Given the description of an element on the screen output the (x, y) to click on. 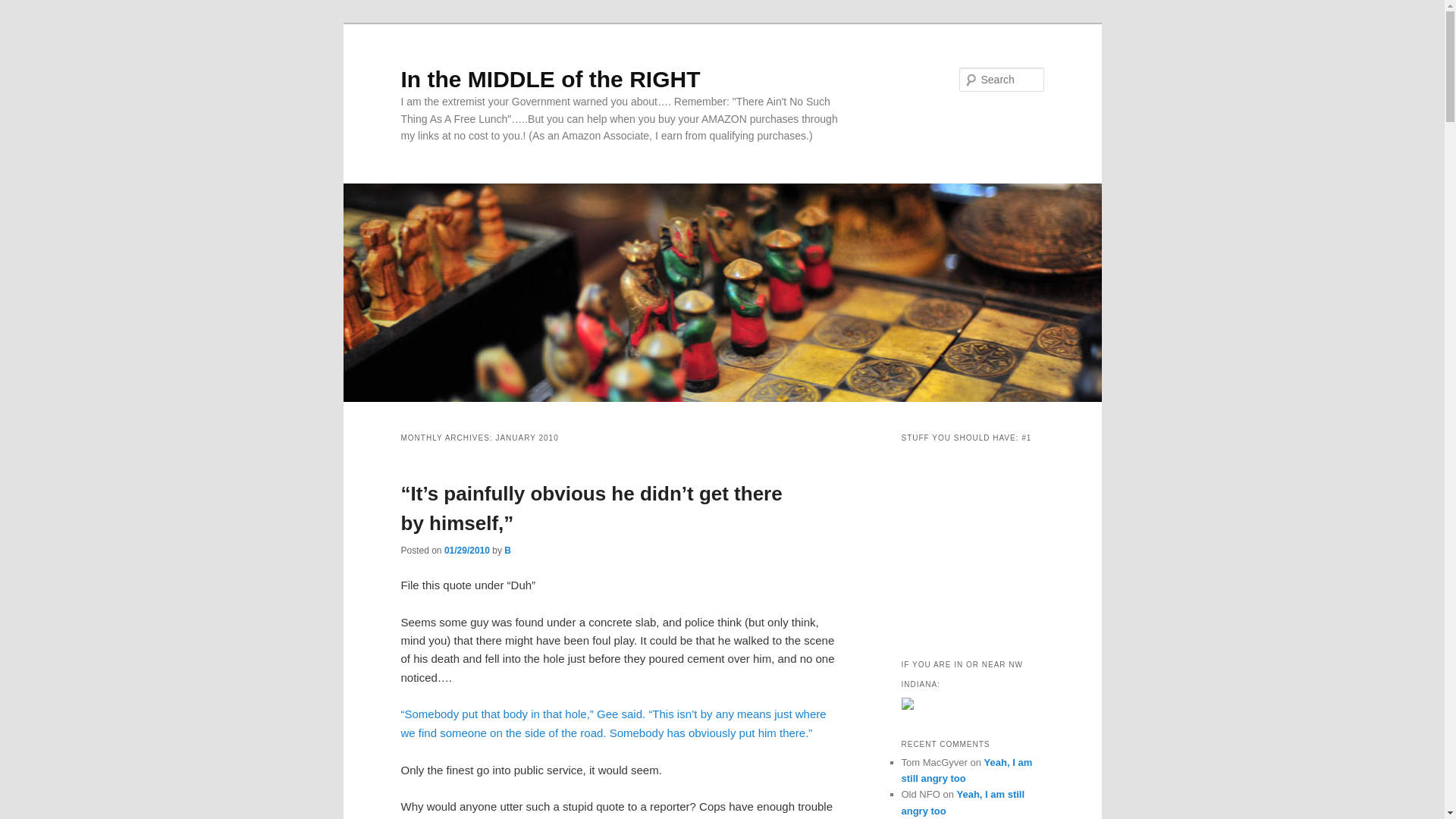
Search (24, 8)
18:21 (466, 550)
In the MIDDLE of the RIGHT (550, 78)
